Given the description of an element on the screen output the (x, y) to click on. 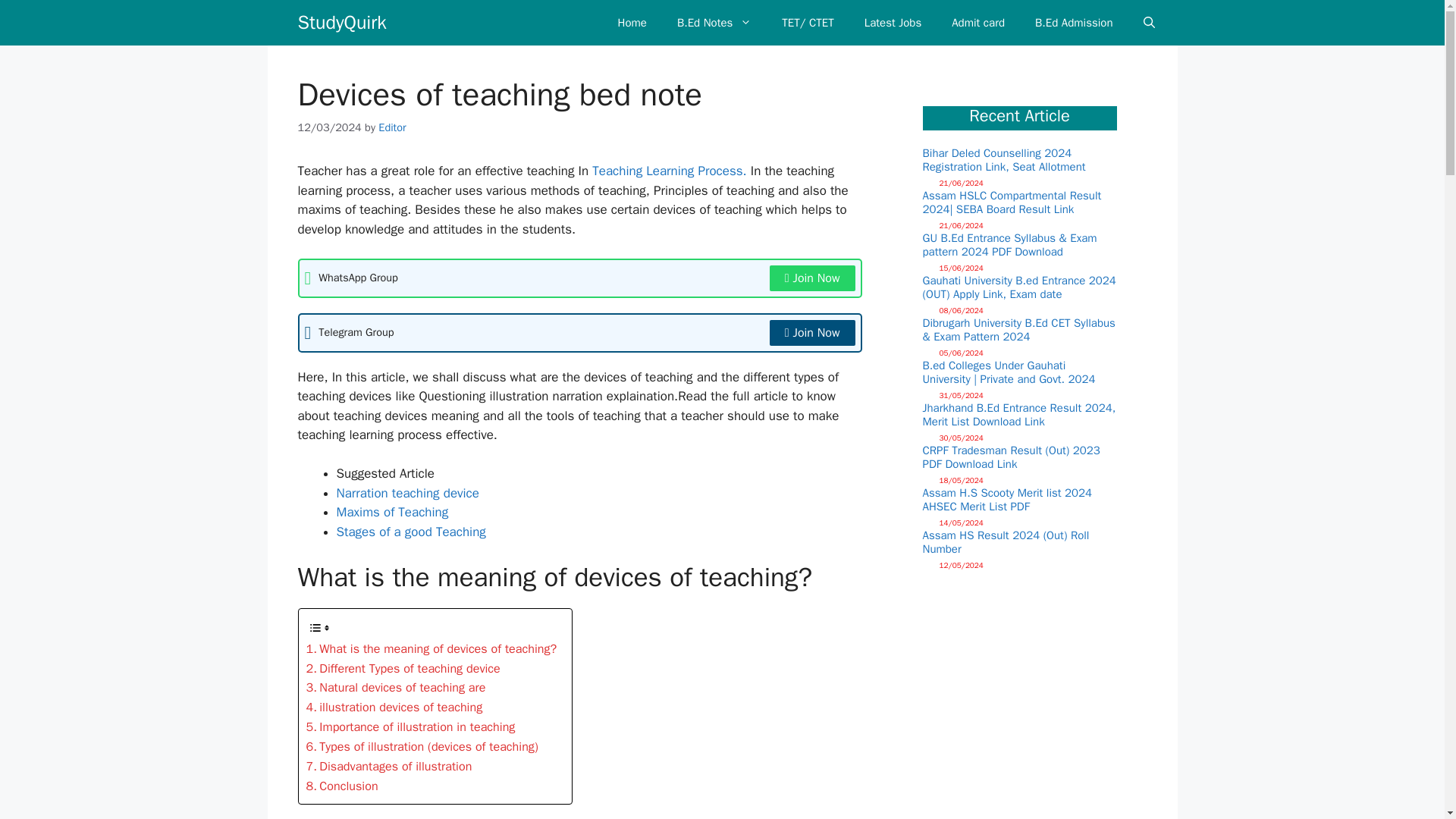
B.Ed Notes (714, 22)
Home (632, 22)
Disadvantages of illustration (388, 766)
Different Types of teaching device (402, 668)
Importance of illustration in teaching (410, 727)
Conclusion (341, 786)
Disadvantages of illustration (388, 766)
illustration devices of teaching (394, 707)
Join Now (813, 332)
Editor (392, 127)
Different Types of teaching device (402, 668)
Natural devices of teaching are (395, 687)
StudyQuirk (341, 22)
B.Ed Admission (1073, 22)
What is the meaning of devices of teaching? (431, 649)
